Given the description of an element on the screen output the (x, y) to click on. 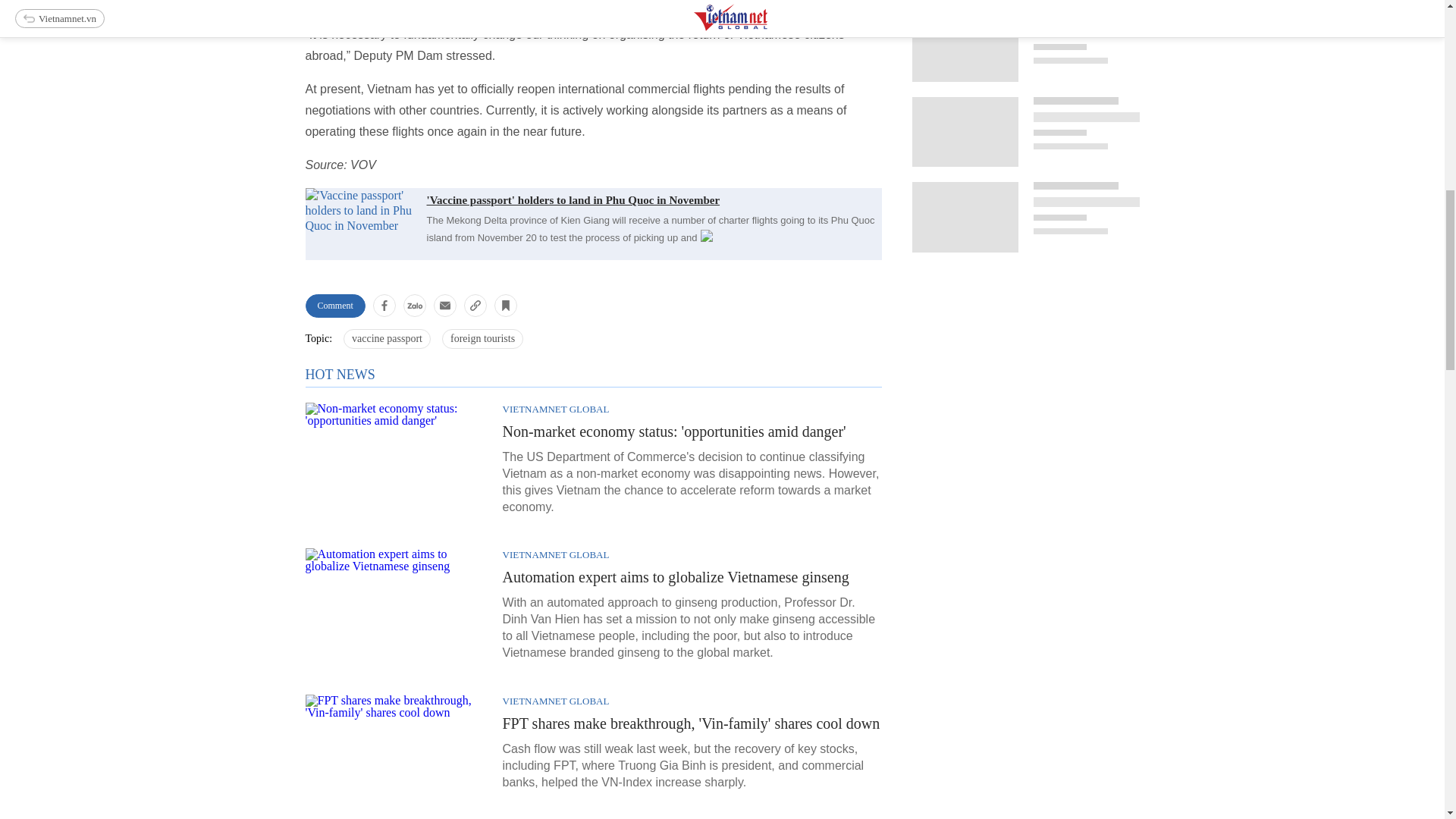
'Vaccine passport' holders to land in Phu Quoc in November (592, 198)
Copy link (475, 305)
Share the post on facebook (384, 305)
Share the post on zalo (414, 305)
Comment (334, 305)
Share the post on email (445, 305)
